Given the description of an element on the screen output the (x, y) to click on. 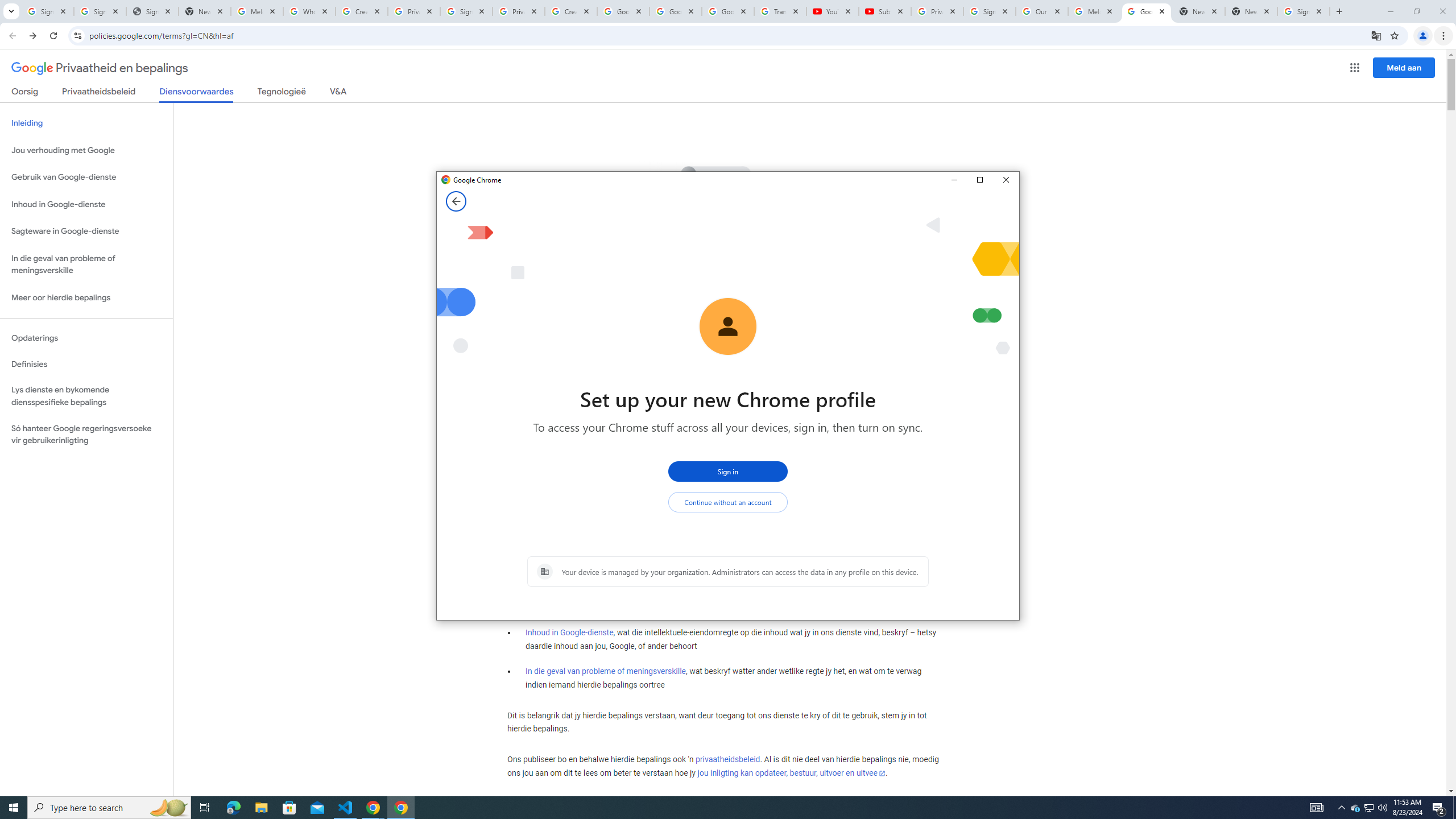
Start (13, 807)
privaatheidsbeleid (727, 759)
Subscriptions - YouTube (1355, 807)
Sign In - USA TODAY (884, 11)
AutomationID: 4105 (151, 11)
Task View (1316, 807)
Sagteware in Google-dienste (204, 807)
Oorsig (86, 230)
Action Center, 2 new notifications (25, 93)
